Given the description of an element on the screen output the (x, y) to click on. 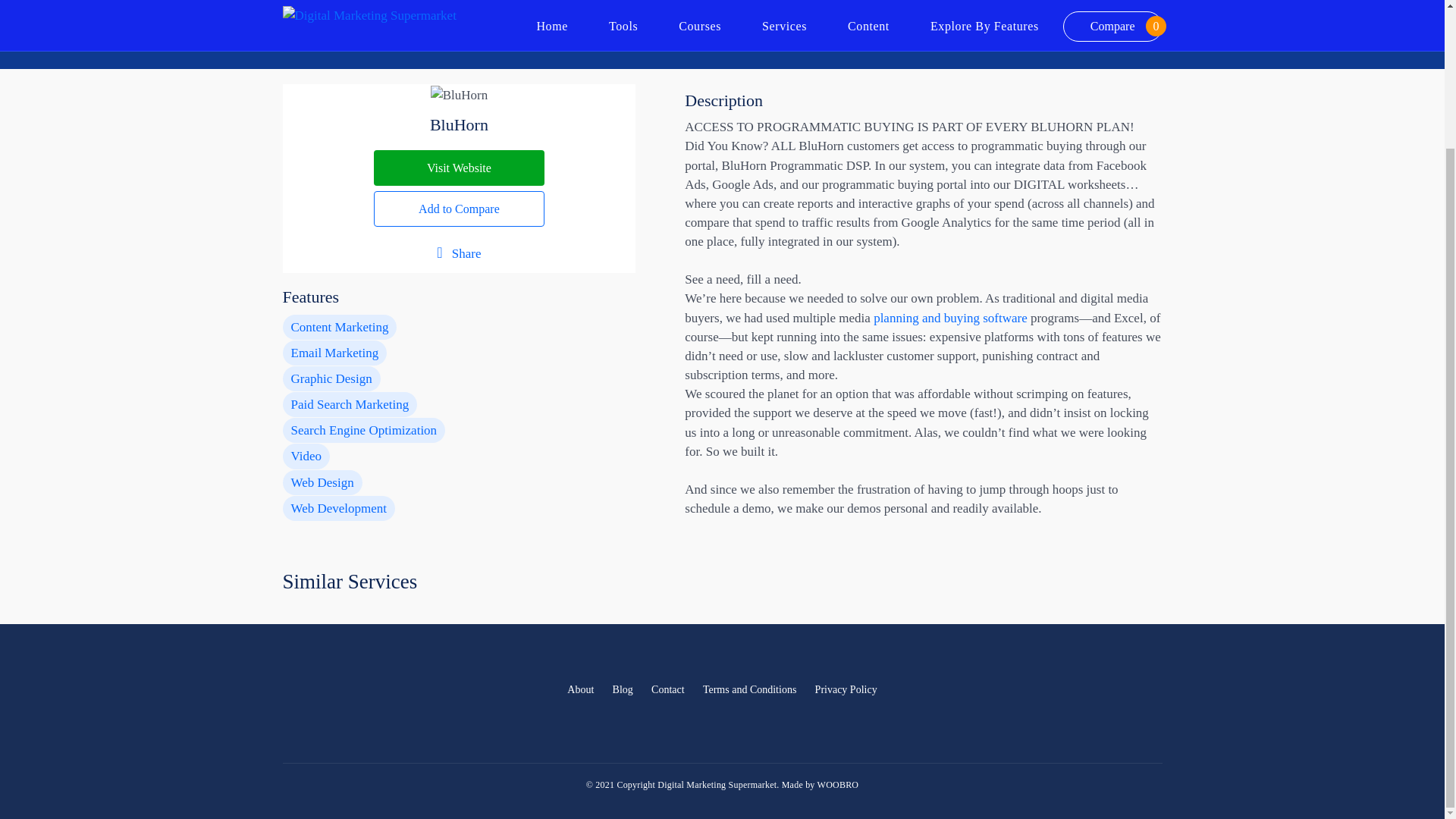
Email Marketing (334, 352)
Graphic Design (331, 378)
About (580, 690)
Video (306, 455)
planning and buying software (950, 318)
Visit Website (459, 167)
Instagram (1146, 690)
Terms and Conditions (749, 690)
Paid Search Marketing (349, 404)
LinkedIn (1114, 690)
